Given the description of an element on the screen output the (x, y) to click on. 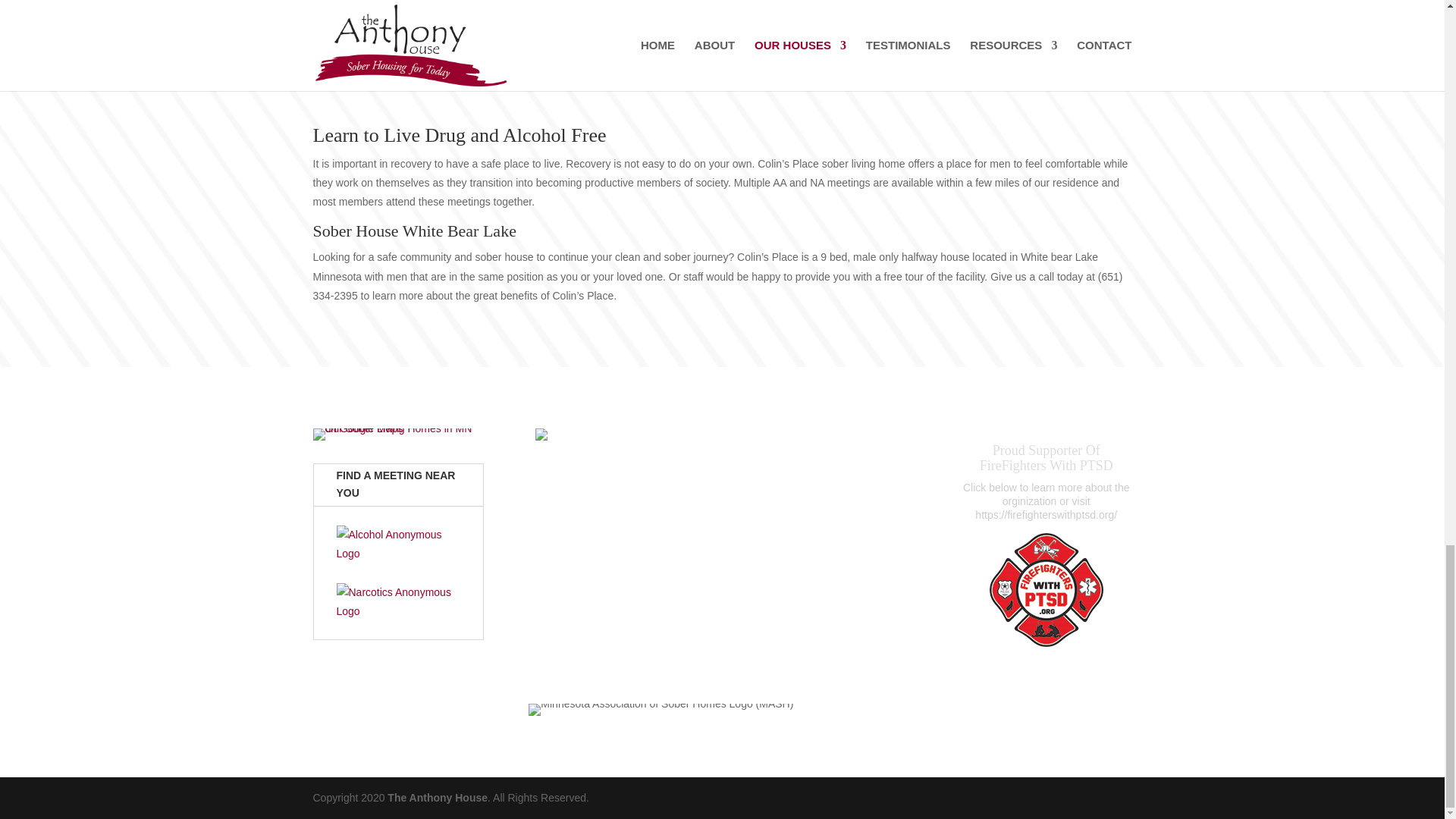
The Anthony House (437, 797)
FIND A MEETING NEAR YOU (398, 485)
Visit Our Blog (722, 641)
Schedule My Tour (721, 1)
Our Sober Living Homes in MN on Google Maps (398, 434)
